Given the description of an element on the screen output the (x, y) to click on. 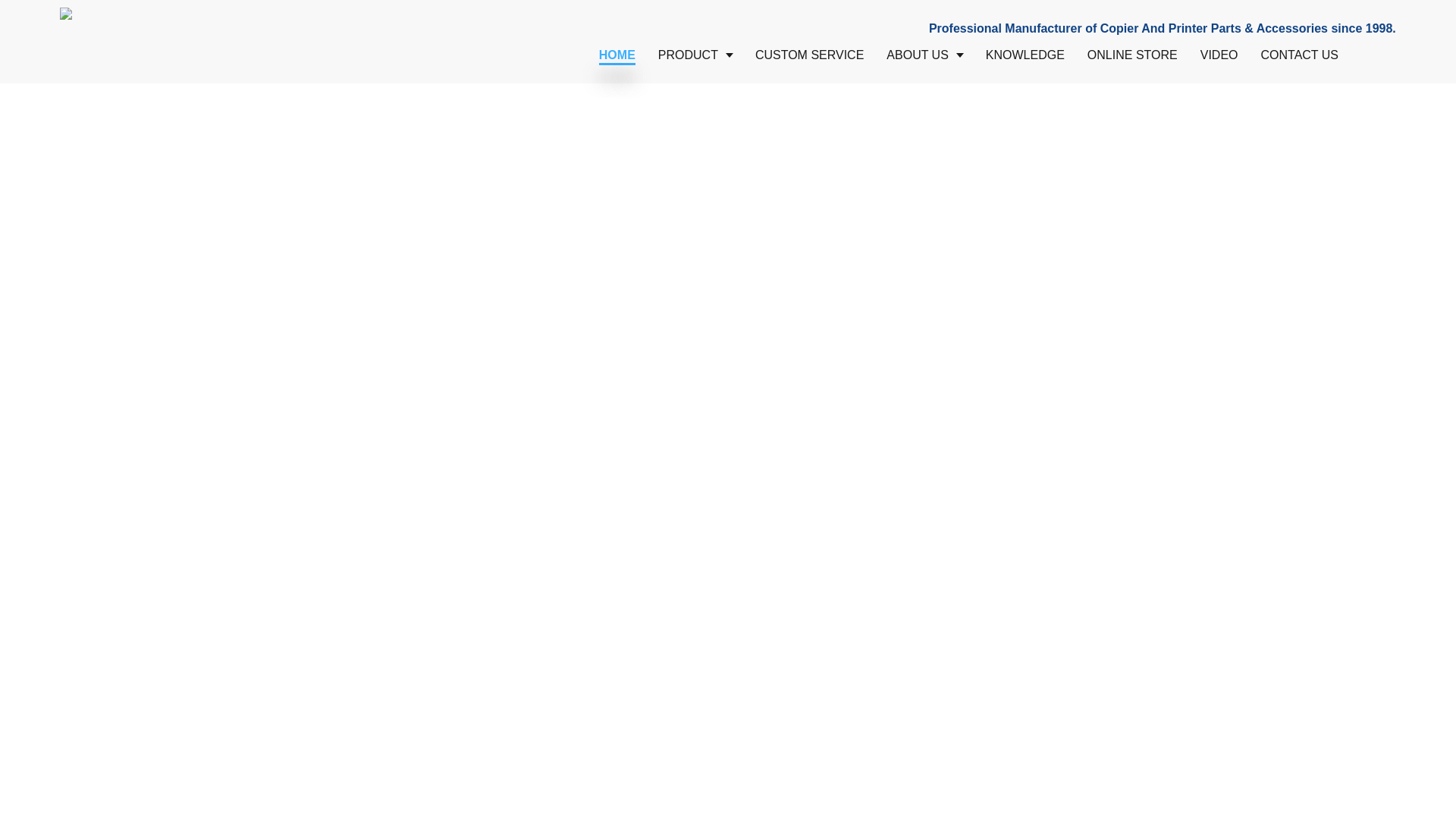
KNOWLEDGE (1024, 55)
CUSTOM SERVICE (809, 55)
HOME (617, 55)
ABOUT US (924, 55)
ONLINE STORE (1132, 55)
PRODUCT (695, 55)
